Given the description of an element on the screen output the (x, y) to click on. 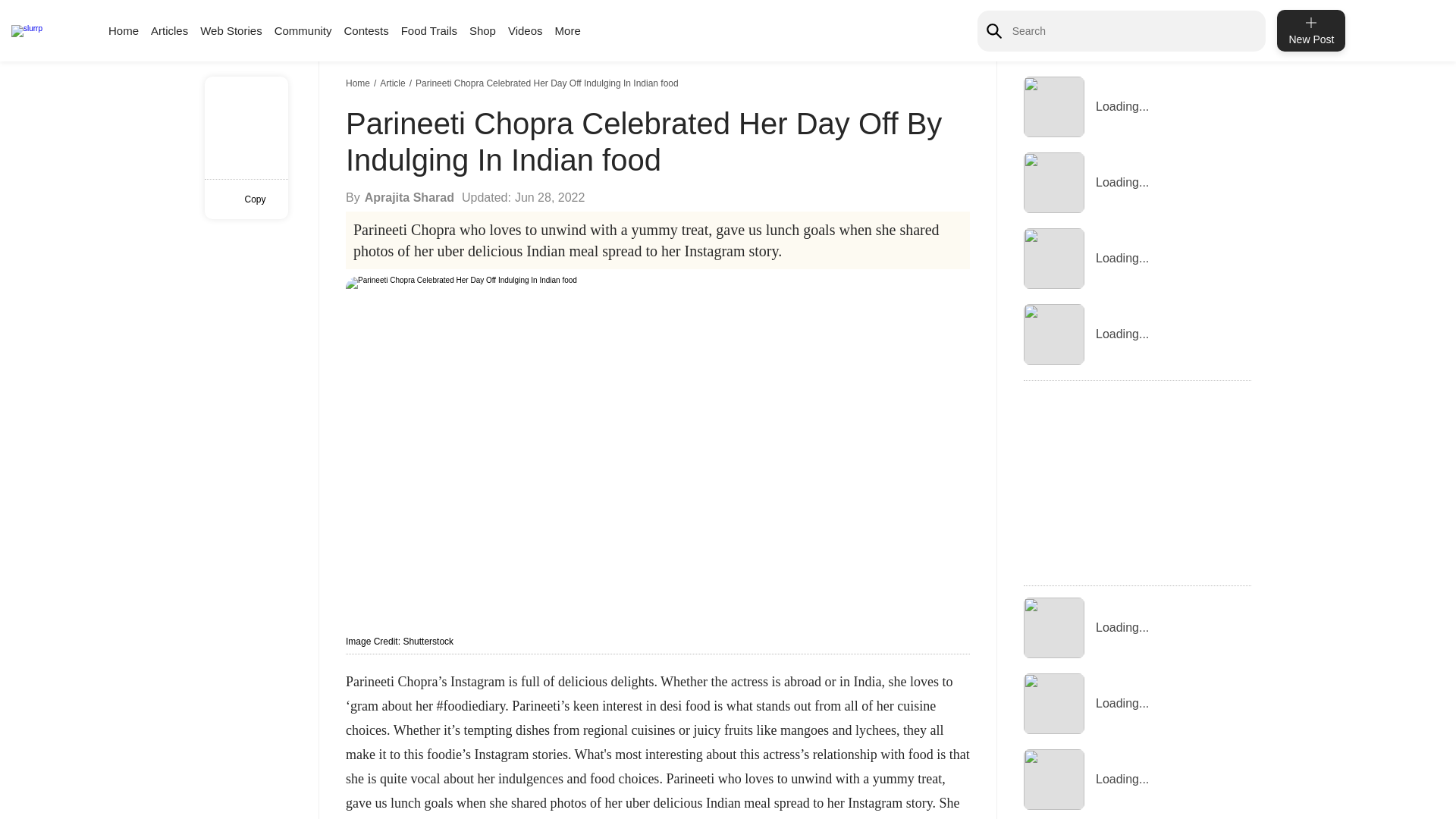
Shop (482, 30)
Web Stories (231, 30)
Articles (169, 30)
Food Trails (429, 30)
Home (122, 30)
Videos (525, 30)
New Post (1310, 30)
Contests (365, 30)
Community (303, 30)
Article (394, 82)
Home (360, 82)
